Given the description of an element on the screen output the (x, y) to click on. 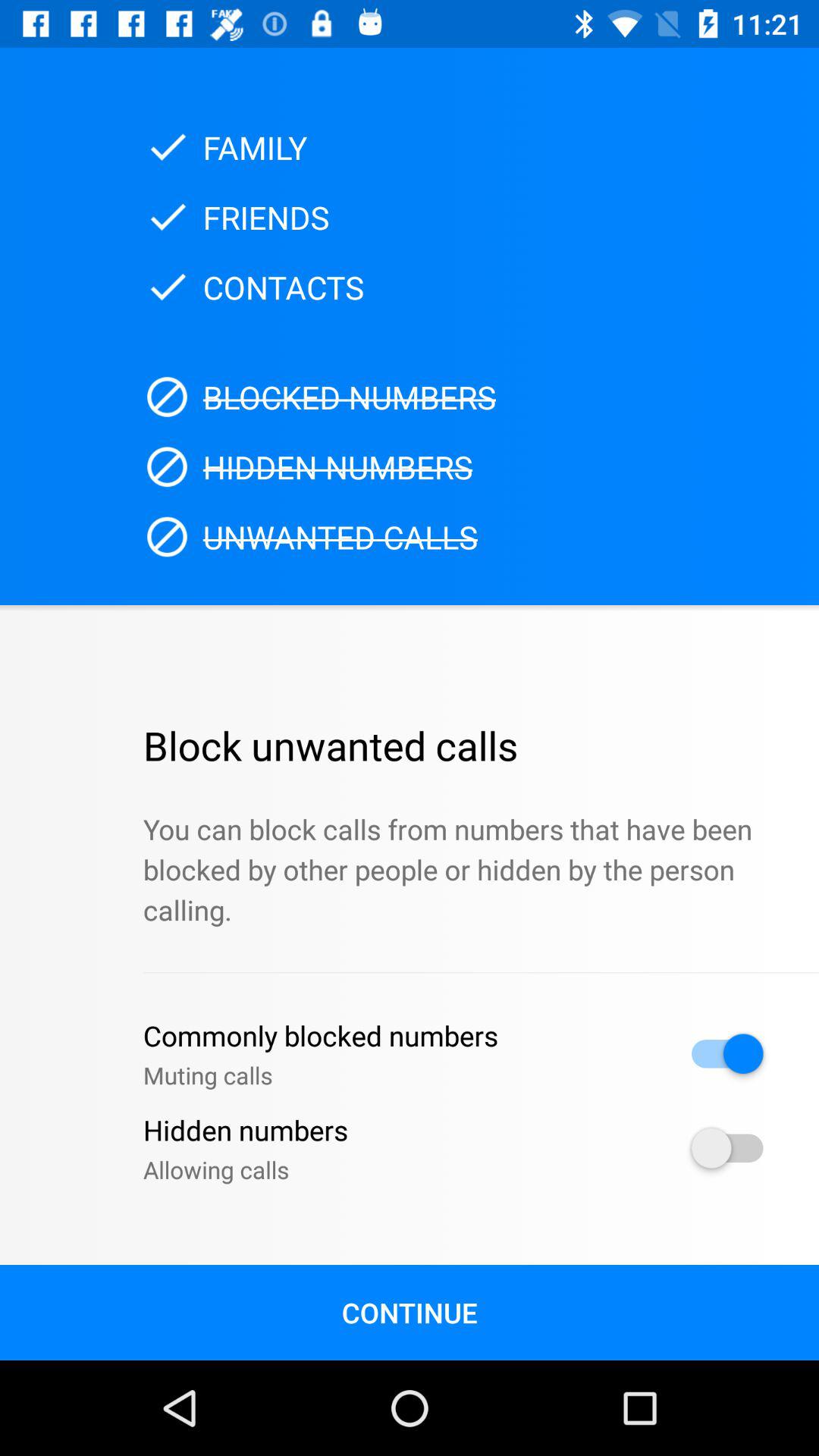
toggle hidden call allowance (727, 1148)
